Given the description of an element on the screen output the (x, y) to click on. 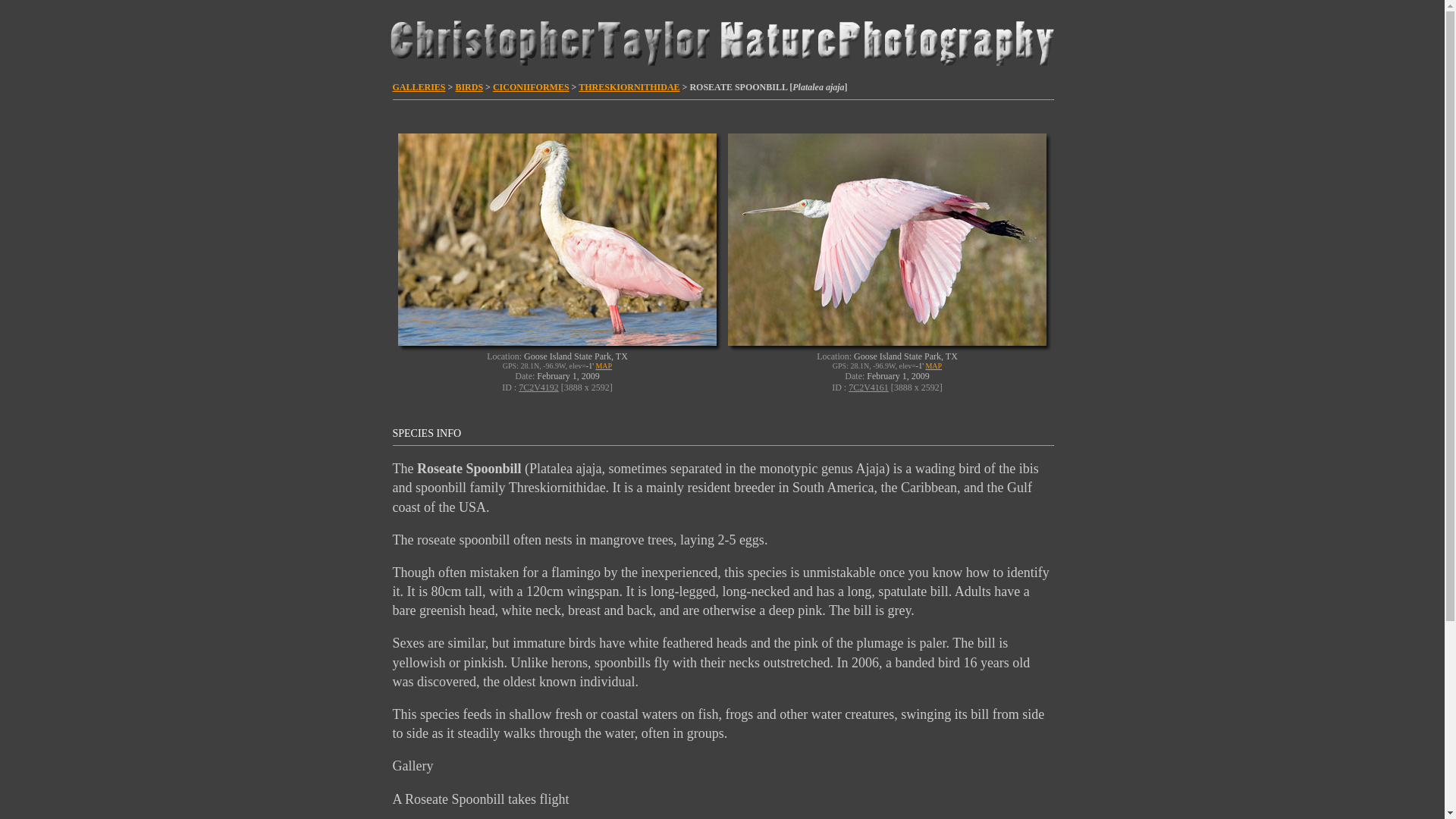
CICONIIFORMES (531, 86)
THRESKIORNITHIDAE (628, 86)
MAP (933, 365)
MAP (603, 365)
GALLERIES (419, 86)
BIRDS (468, 86)
Christopher Taylor Bird Nature Wildlife Mammal Photography (721, 40)
